Given the description of an element on the screen output the (x, y) to click on. 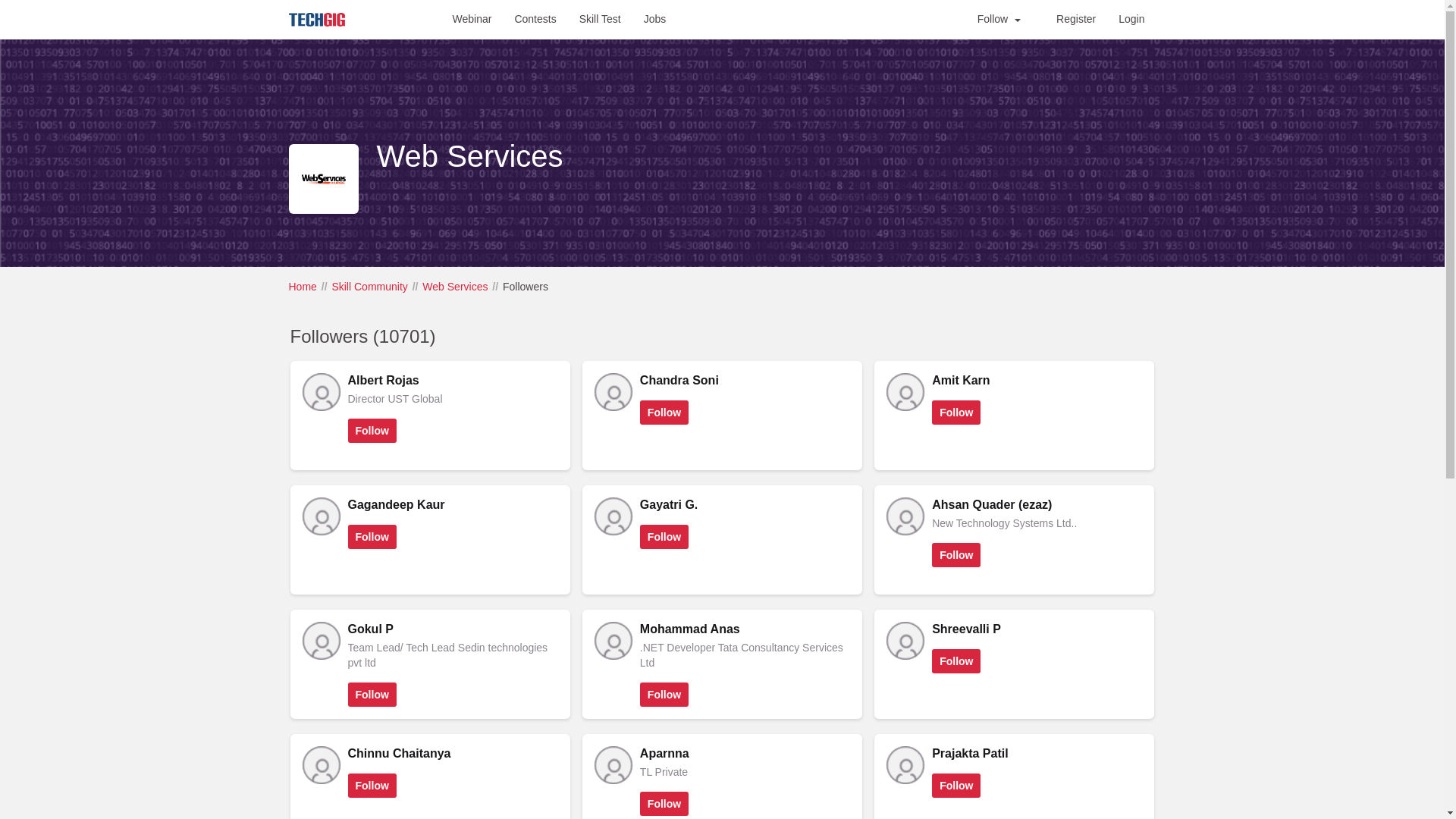
Web Services (454, 286)
Skill Community (369, 286)
Follow (664, 694)
Contests (534, 18)
Register (1075, 18)
Home (301, 286)
Follow (955, 554)
Webinar (472, 18)
Follow (664, 412)
Follow (371, 430)
Follow (955, 412)
Follow (664, 536)
Login (1131, 18)
Jobs (654, 18)
Follow (997, 18)
